Given the description of an element on the screen output the (x, y) to click on. 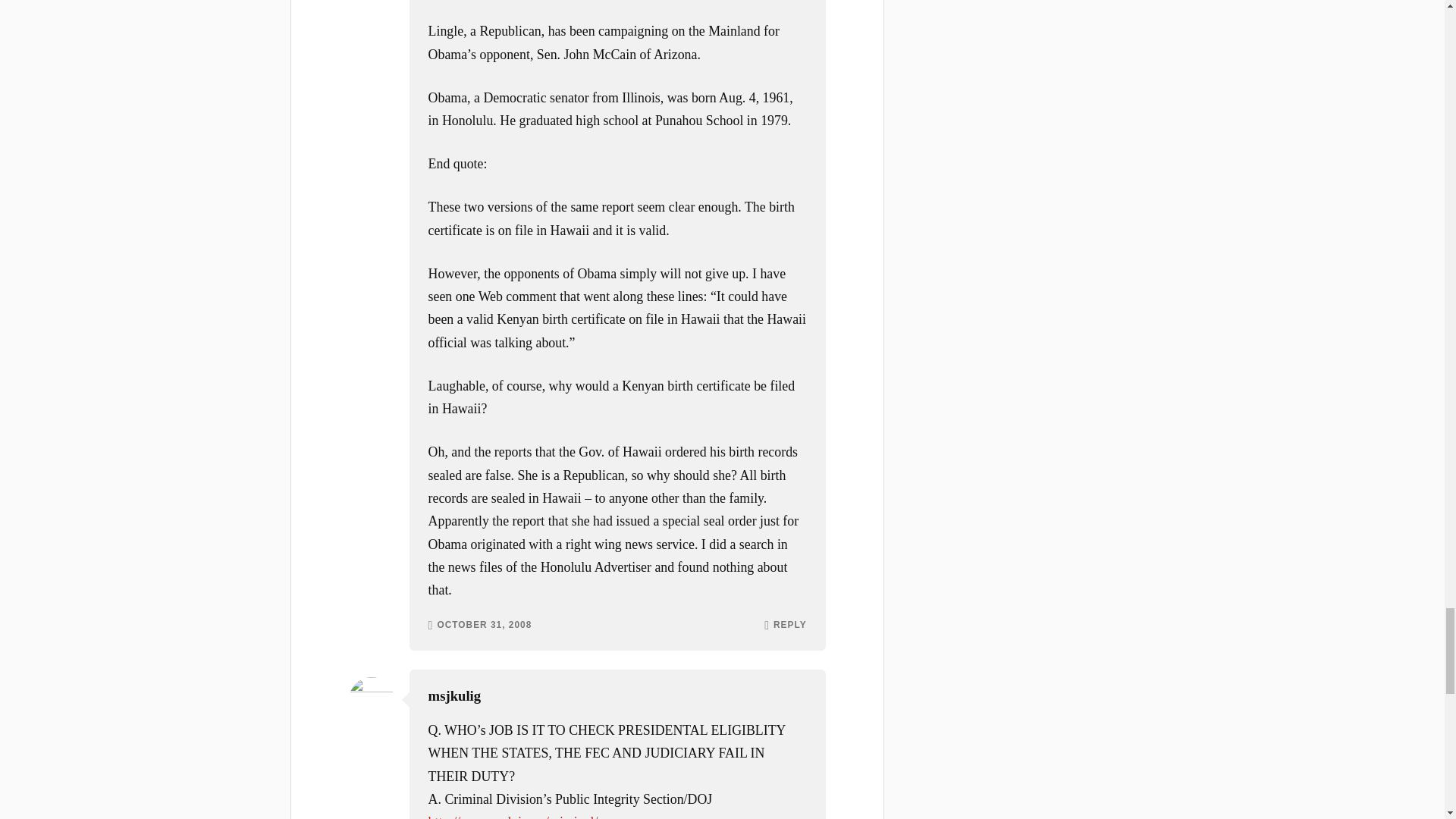
OCTOBER 31, 2008 (483, 624)
REPLY (789, 624)
